Given the description of an element on the screen output the (x, y) to click on. 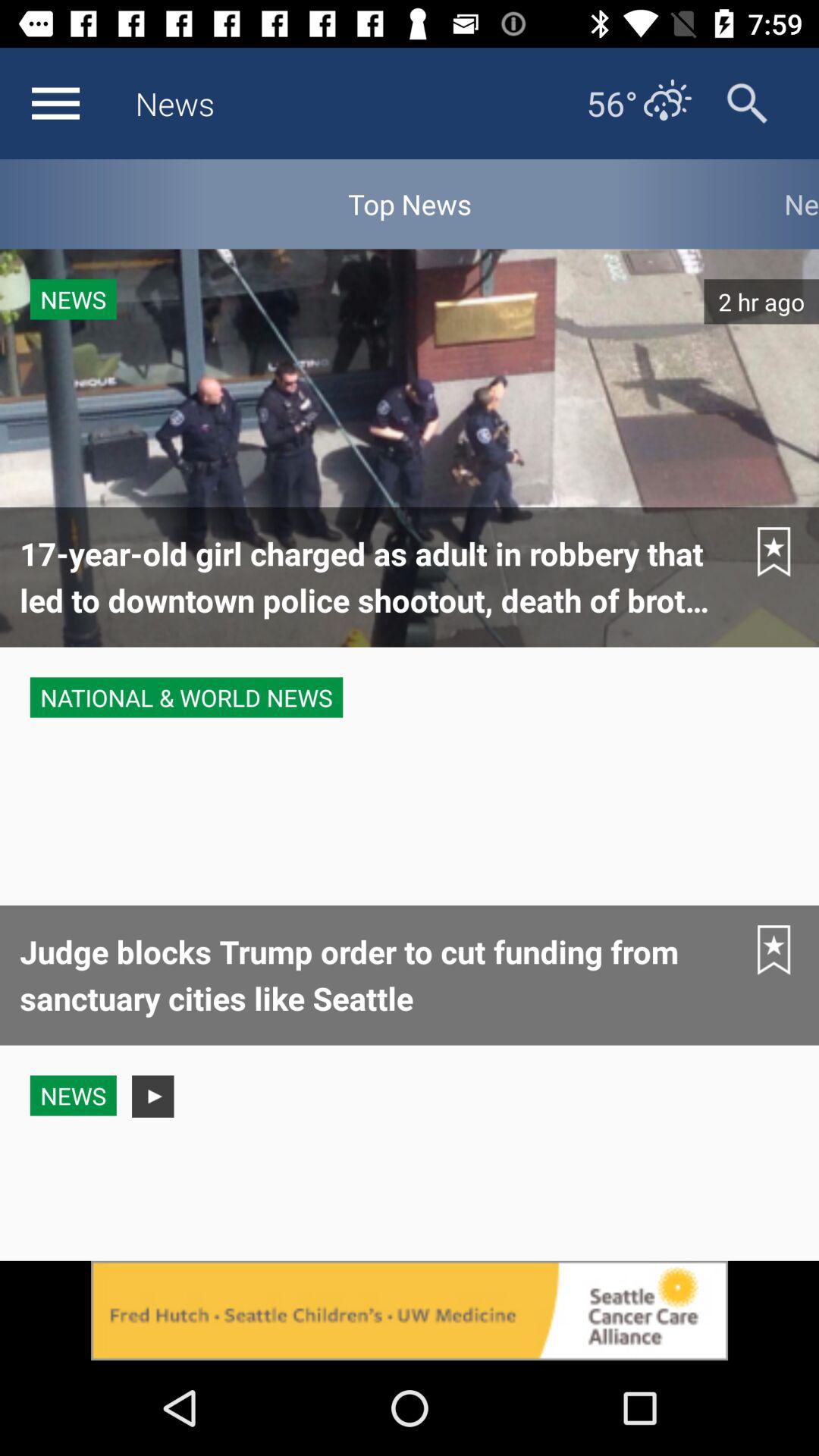
menu (55, 103)
